Given the description of an element on the screen output the (x, y) to click on. 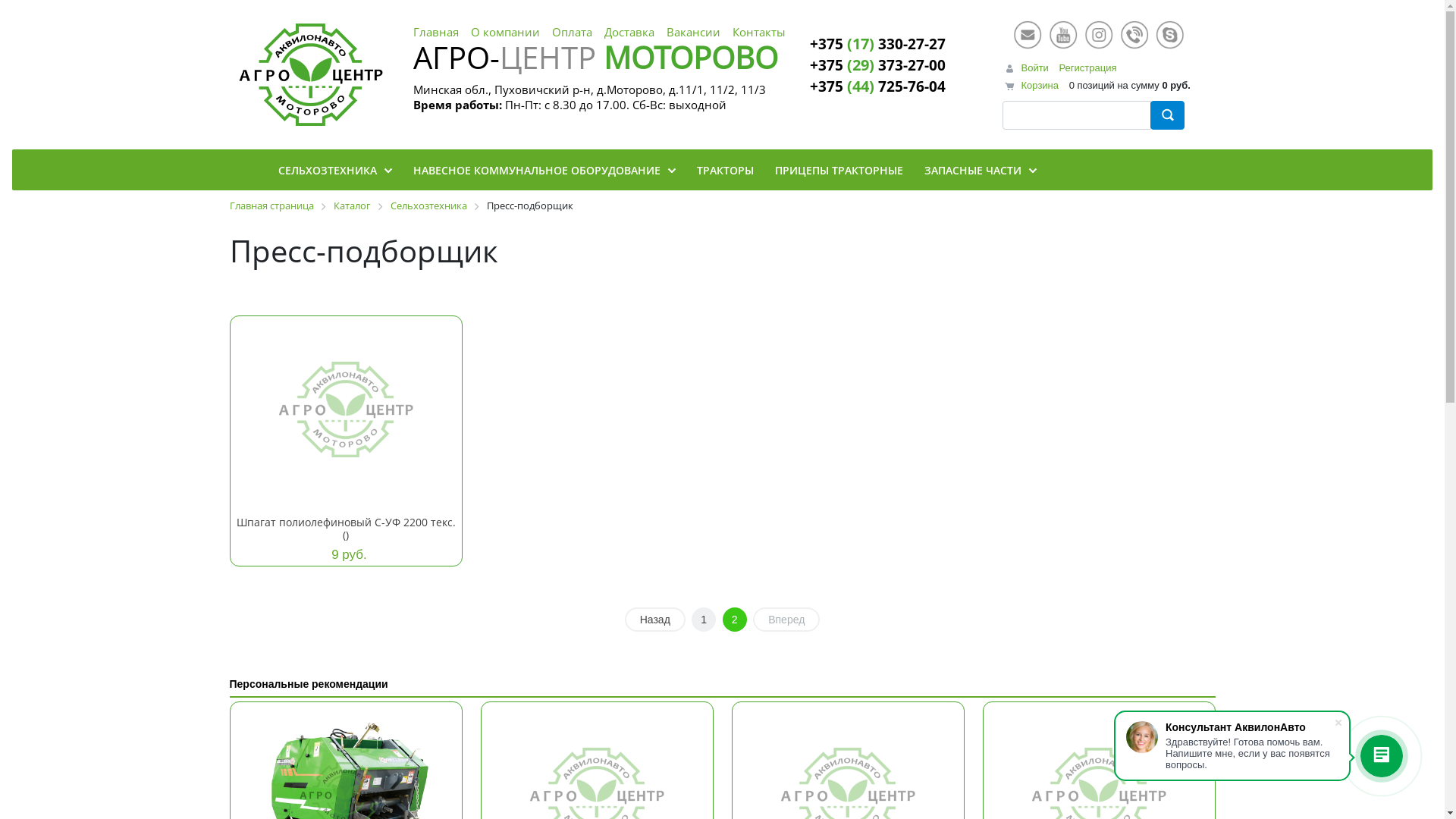
+375 (29) 373-27-00 Element type: text (877, 63)
Viber Element type: hover (1134, 33)
1 Element type: text (703, 619)
Skype Element type: hover (1169, 33)
E-mail Element type: hover (1027, 33)
+375 (44) 725-76-04 Element type: text (877, 84)
YouTube Element type: hover (1062, 33)
Instagram Element type: hover (1098, 33)
+375 (17) 330-27-27 Element type: text (877, 42)
  Element type: text (1166, 114)
